Given the description of an element on the screen output the (x, y) to click on. 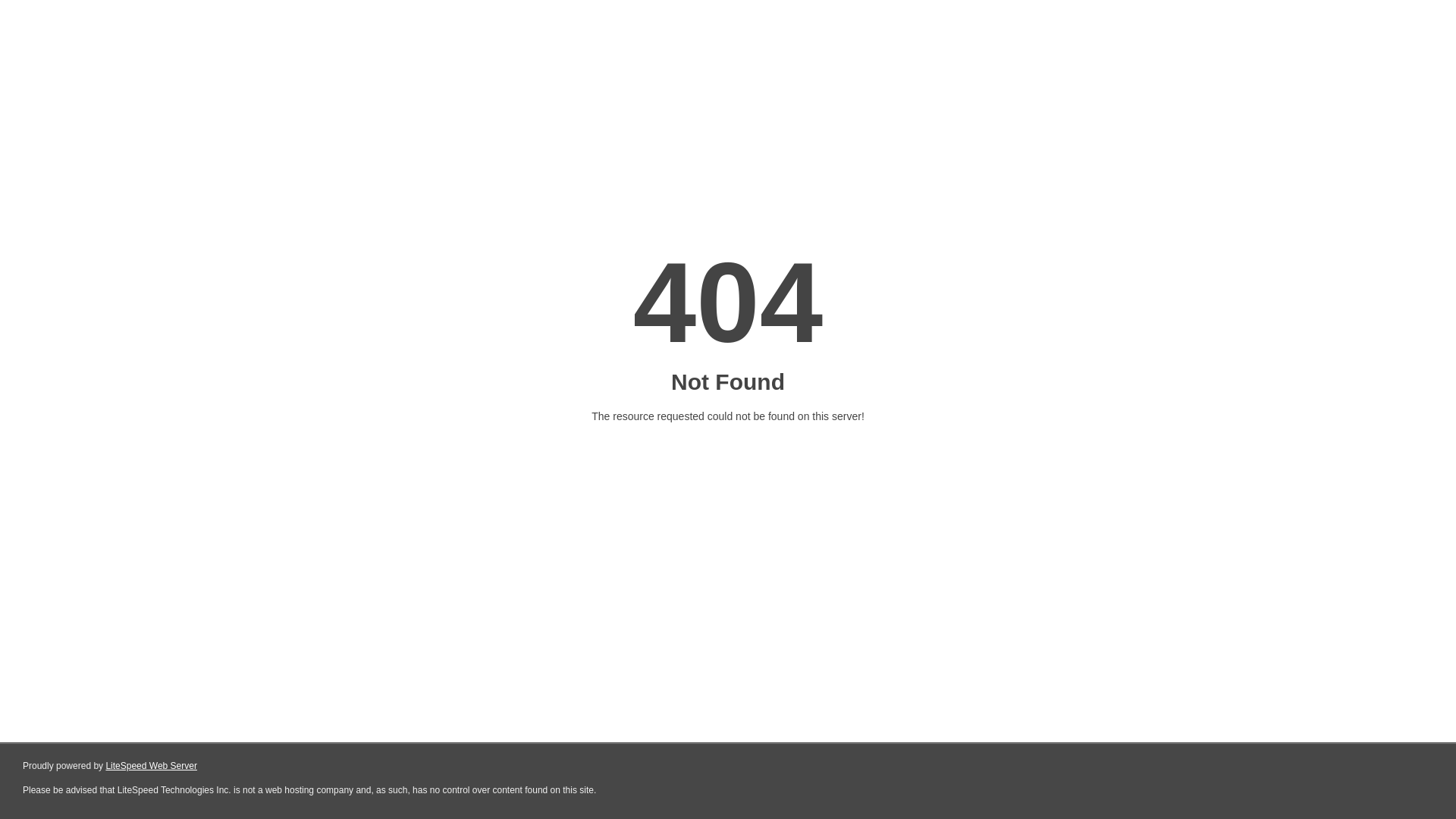
LiteSpeed Web Server Element type: text (151, 765)
